Given the description of an element on the screen output the (x, y) to click on. 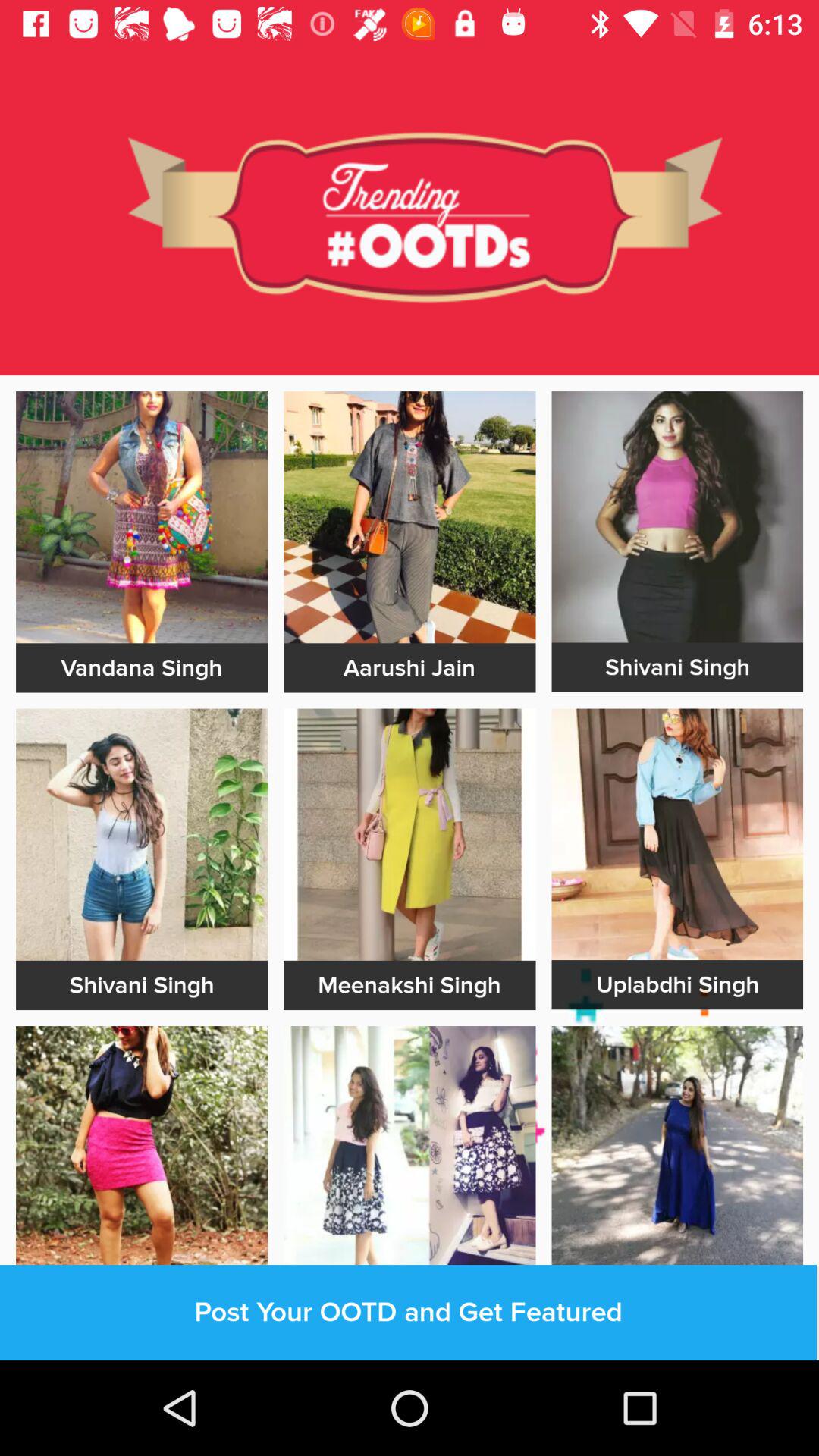
advertisement (409, 517)
